Given the description of an element on the screen output the (x, y) to click on. 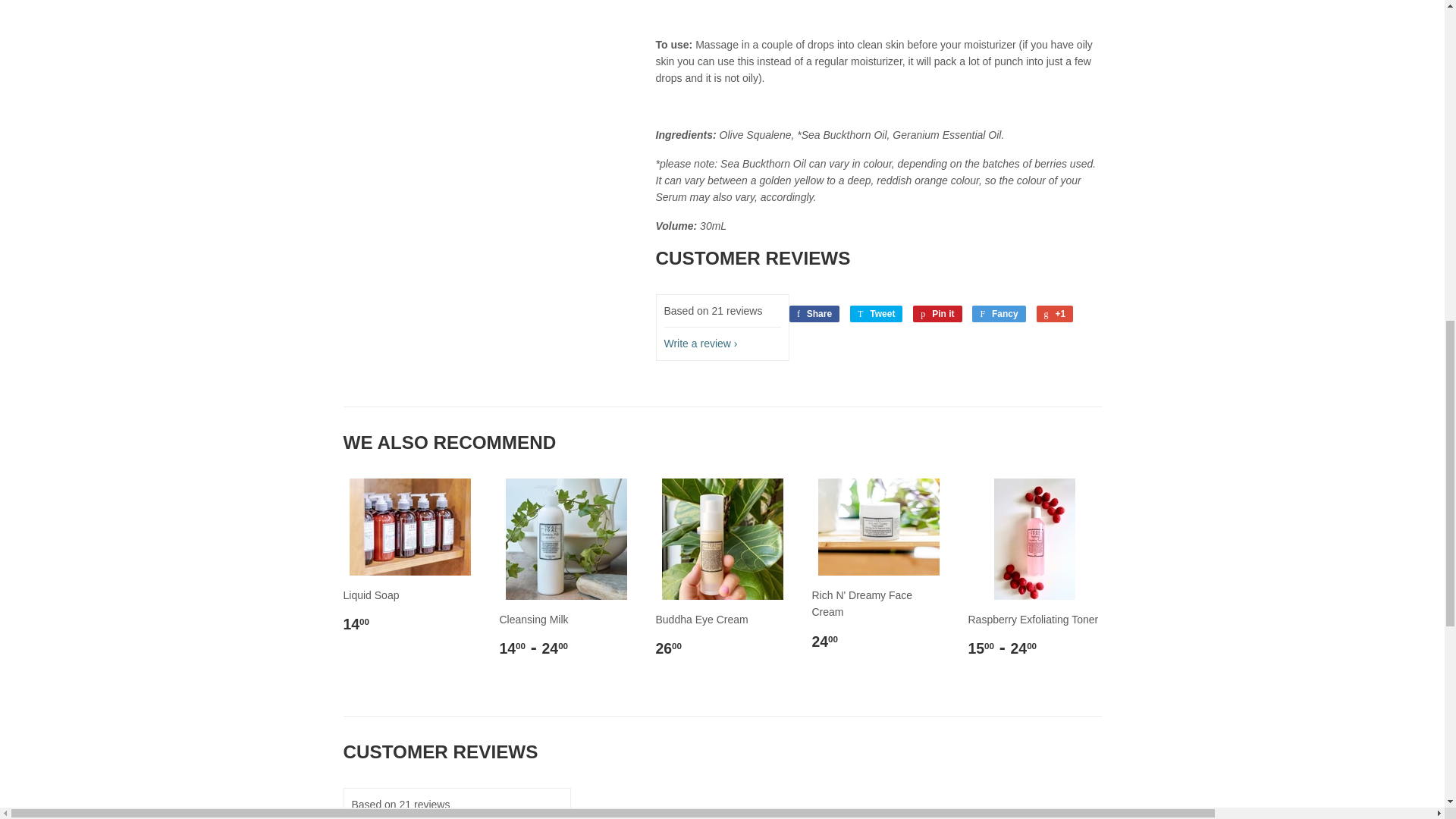
Pin it (936, 313)
Fancy (998, 313)
Write a review (700, 343)
Share (814, 313)
Tweet (876, 313)
